Given the description of an element on the screen output the (x, y) to click on. 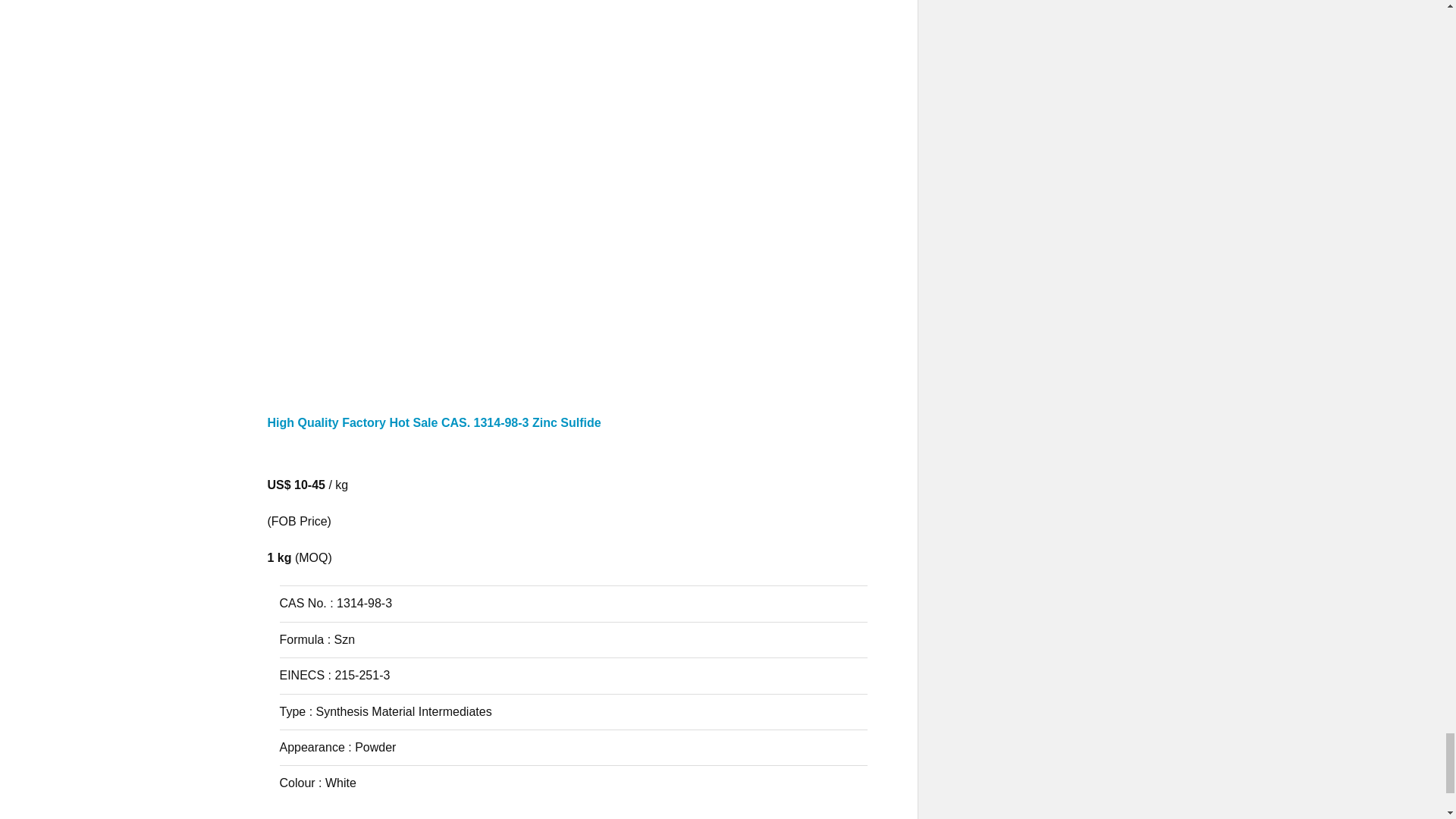
High Quality Factory Hot Sale CAS. 1314-98-3 Zinc Sulfide (566, 436)
